Given the description of an element on the screen output the (x, y) to click on. 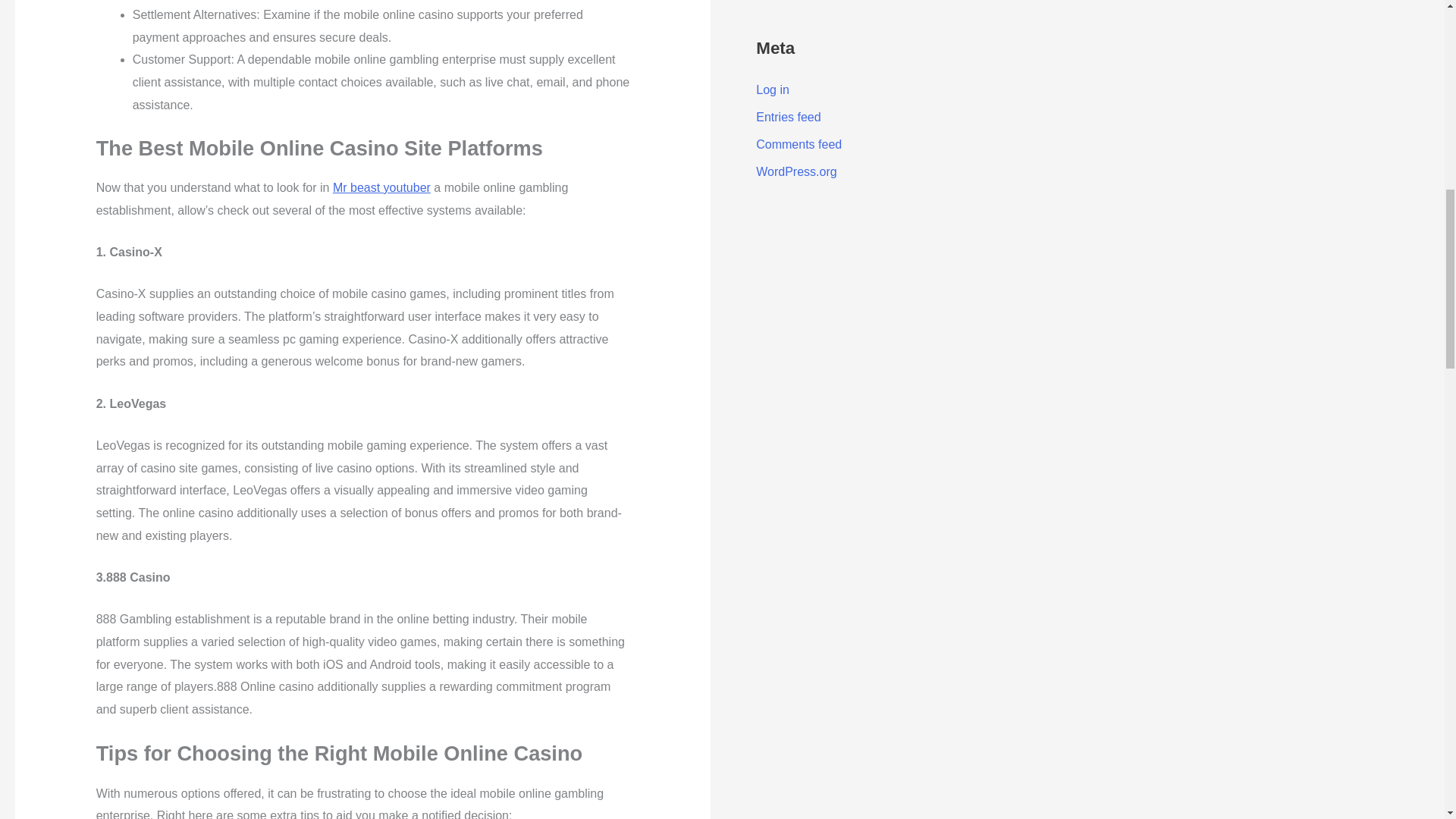
Mr beast youtuber (381, 187)
